Given the description of an element on the screen output the (x, y) to click on. 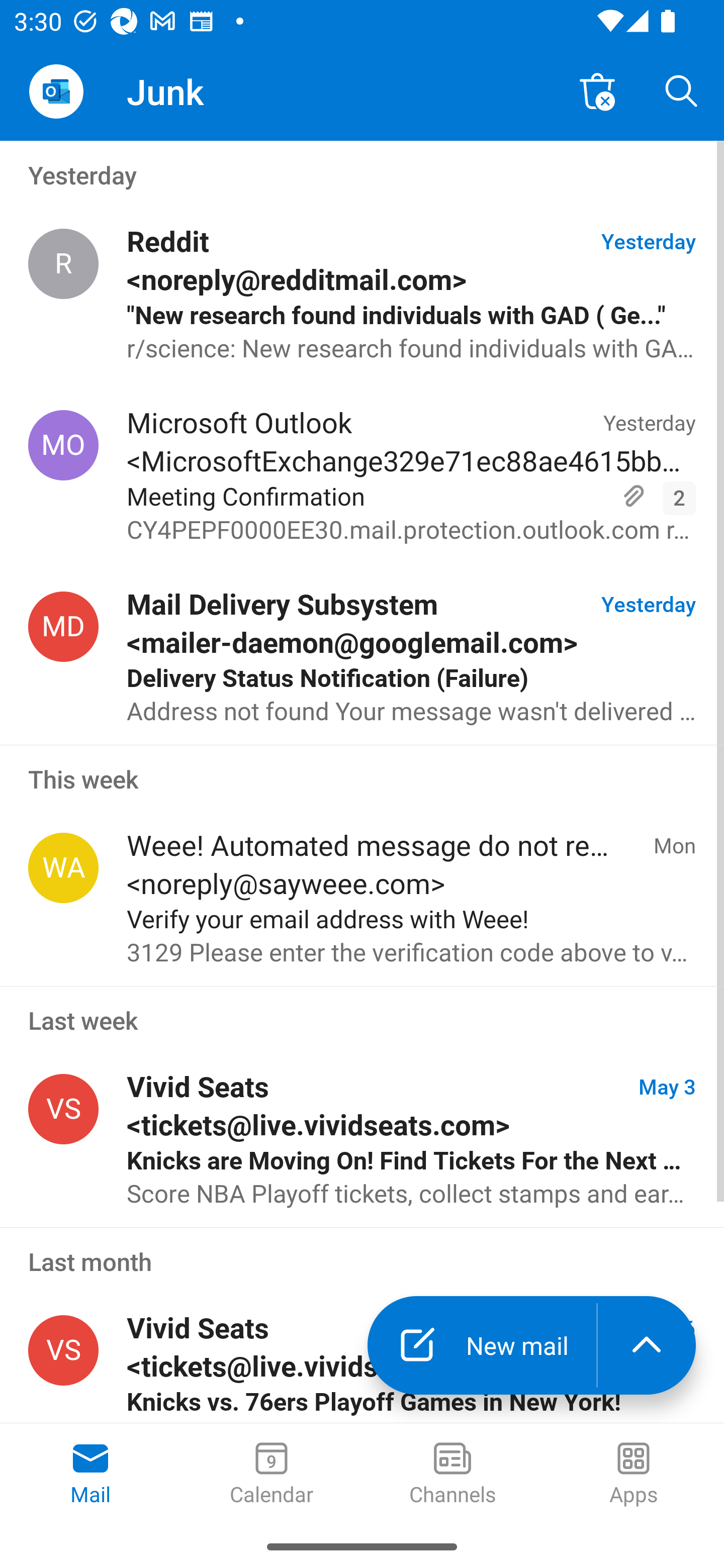
Empty Junk (597, 90)
Search, ,  (681, 90)
Open Navigation Drawer (55, 91)
Reddit, noreply@redditmail.com (63, 263)
Vivid Seats, tickets@live.vividseats.com (63, 1109)
New mail (481, 1344)
launch the extended action menu (646, 1344)
Vivid Seats, tickets@live.vividseats.com (63, 1350)
Calendar (271, 1474)
Channels (452, 1474)
Apps (633, 1474)
